Given the description of an element on the screen output the (x, y) to click on. 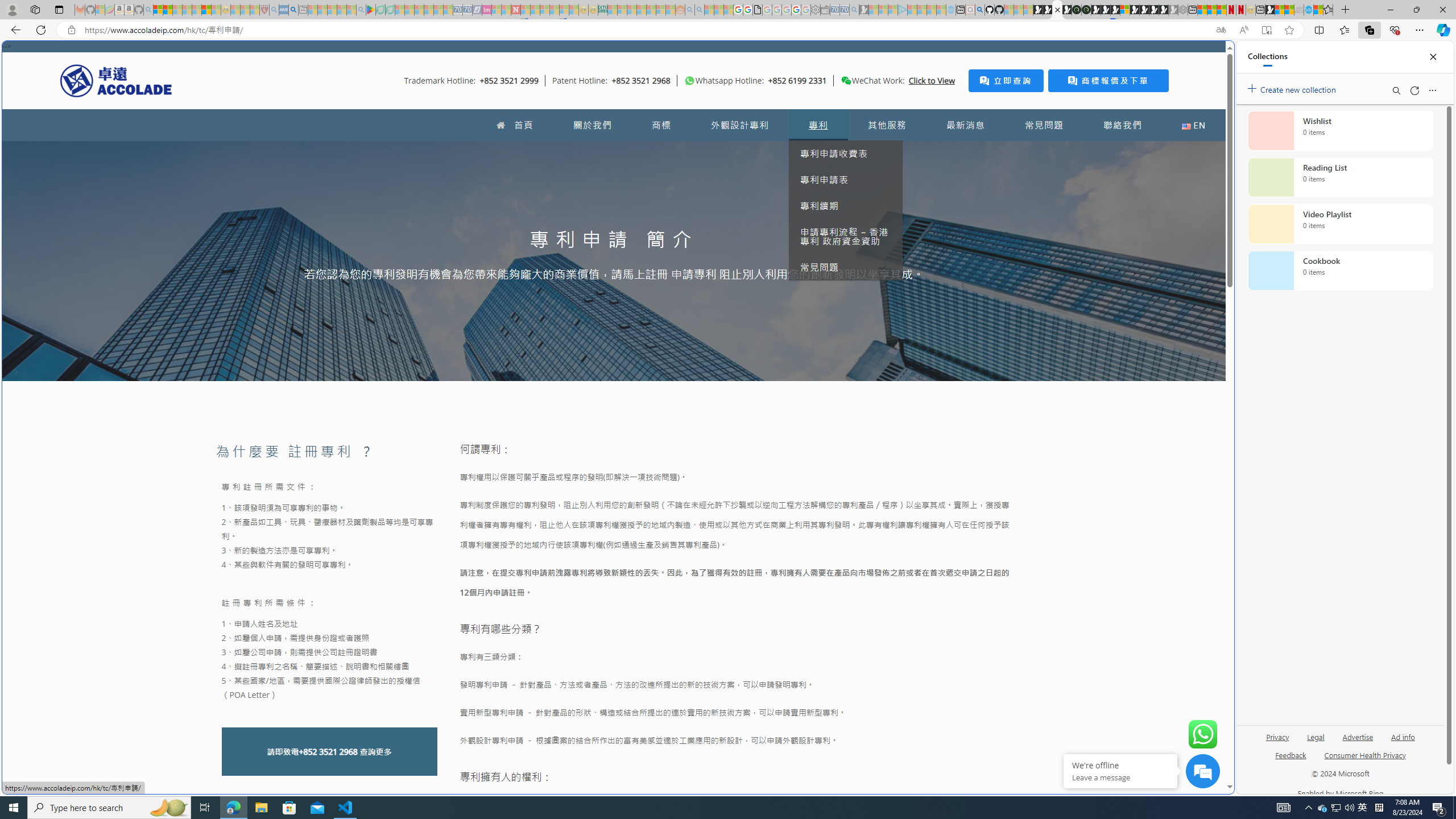
More options menu (1432, 90)
